Given the description of an element on the screen output the (x, y) to click on. 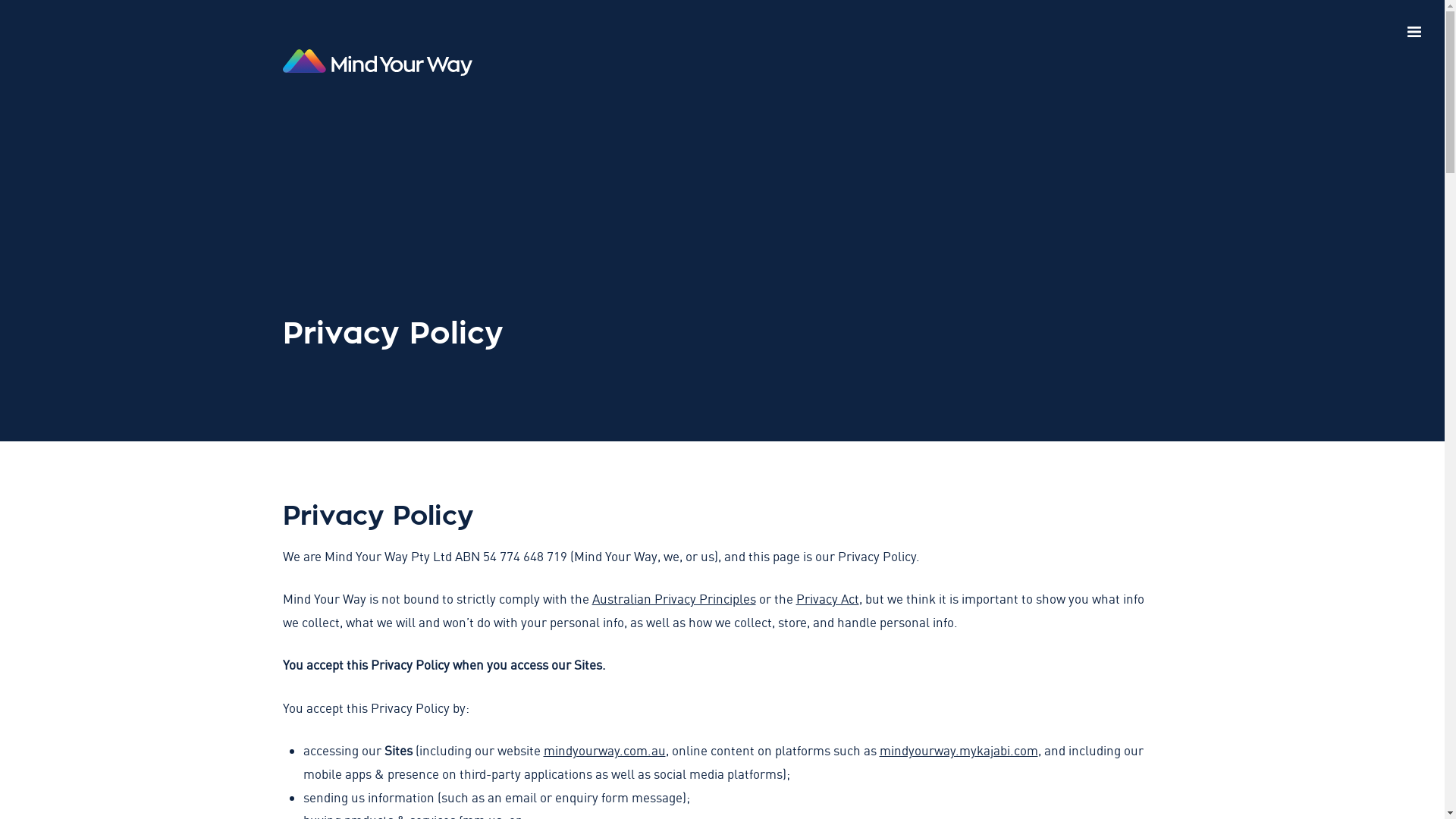
Australian Privacy Principles Element type: text (673, 598)
mindyourway.mykajabi.com Element type: text (958, 750)
mindyourway.com.au Element type: text (603, 750)
Privacy Act Element type: text (827, 598)
